Given the description of an element on the screen output the (x, y) to click on. 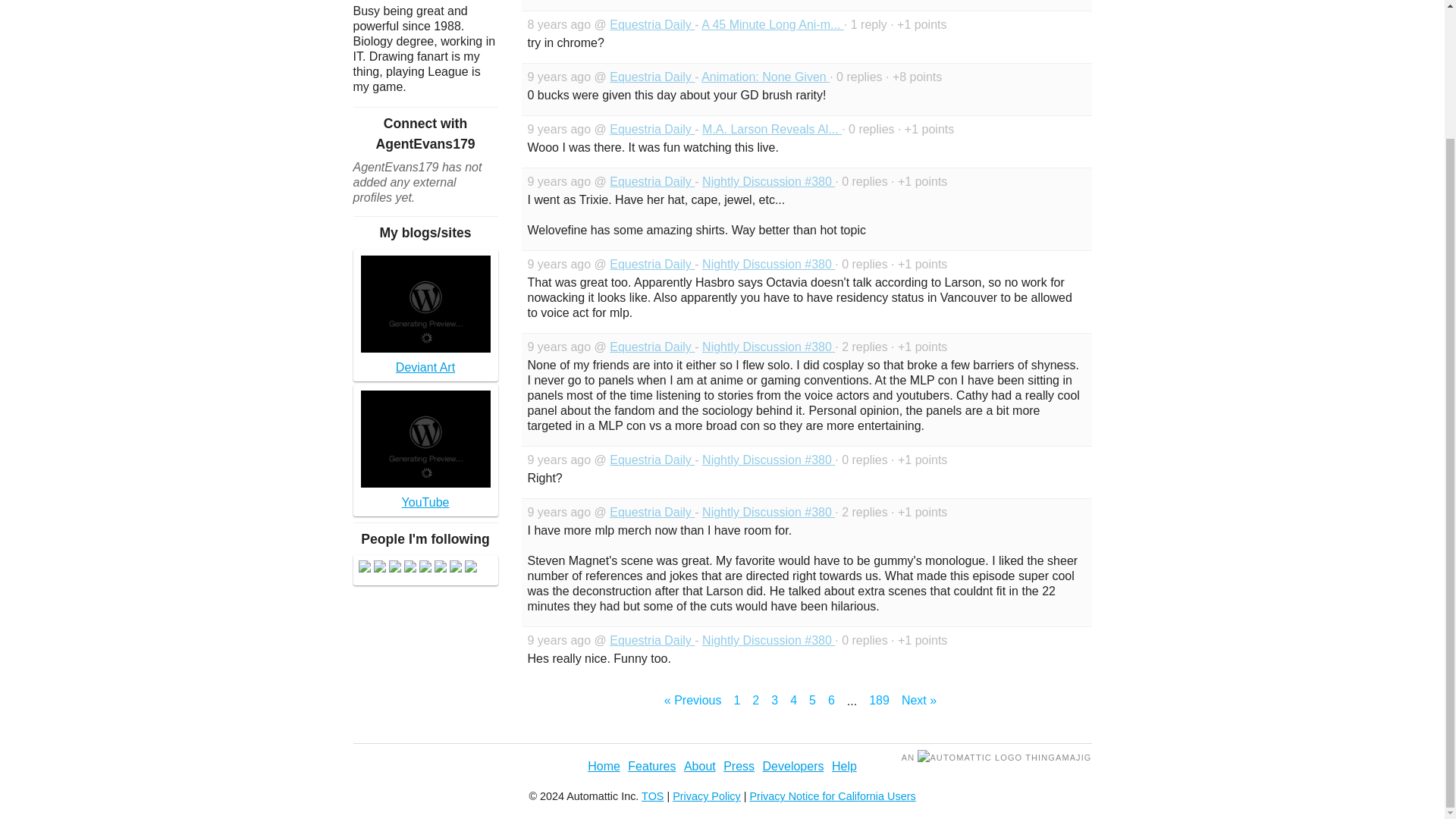
Equestria Daily (652, 181)
Equestria Daily (652, 24)
Deviant Art (425, 315)
Equestria Daily (652, 640)
A 45 Minute Long Ani-m... (772, 24)
Equestria Daily (652, 128)
YouTube (425, 450)
Equestria Daily (652, 346)
M.A. Larson Reveals Al... (771, 128)
Equestria Daily (652, 459)
